Given the description of an element on the screen output the (x, y) to click on. 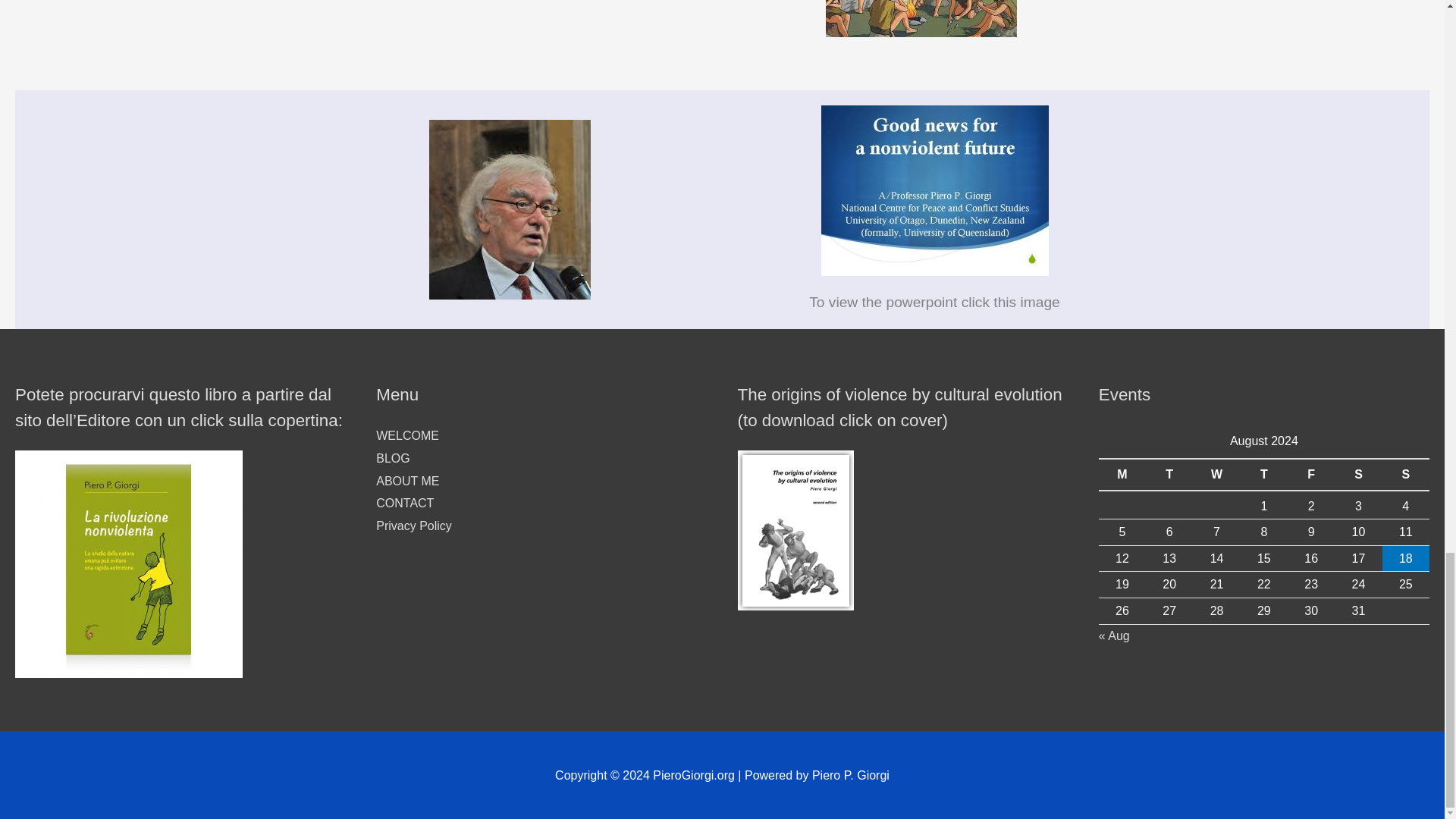
Saturday (1358, 474)
ABOUT ME (407, 481)
Wednesday (1216, 474)
Thursday (1263, 474)
Sunday (1405, 474)
Privacy Policy (413, 525)
BLOG (392, 458)
Tuesday (1168, 474)
Monday (1122, 474)
WELCOME (407, 435)
